Given the description of an element on the screen output the (x, y) to click on. 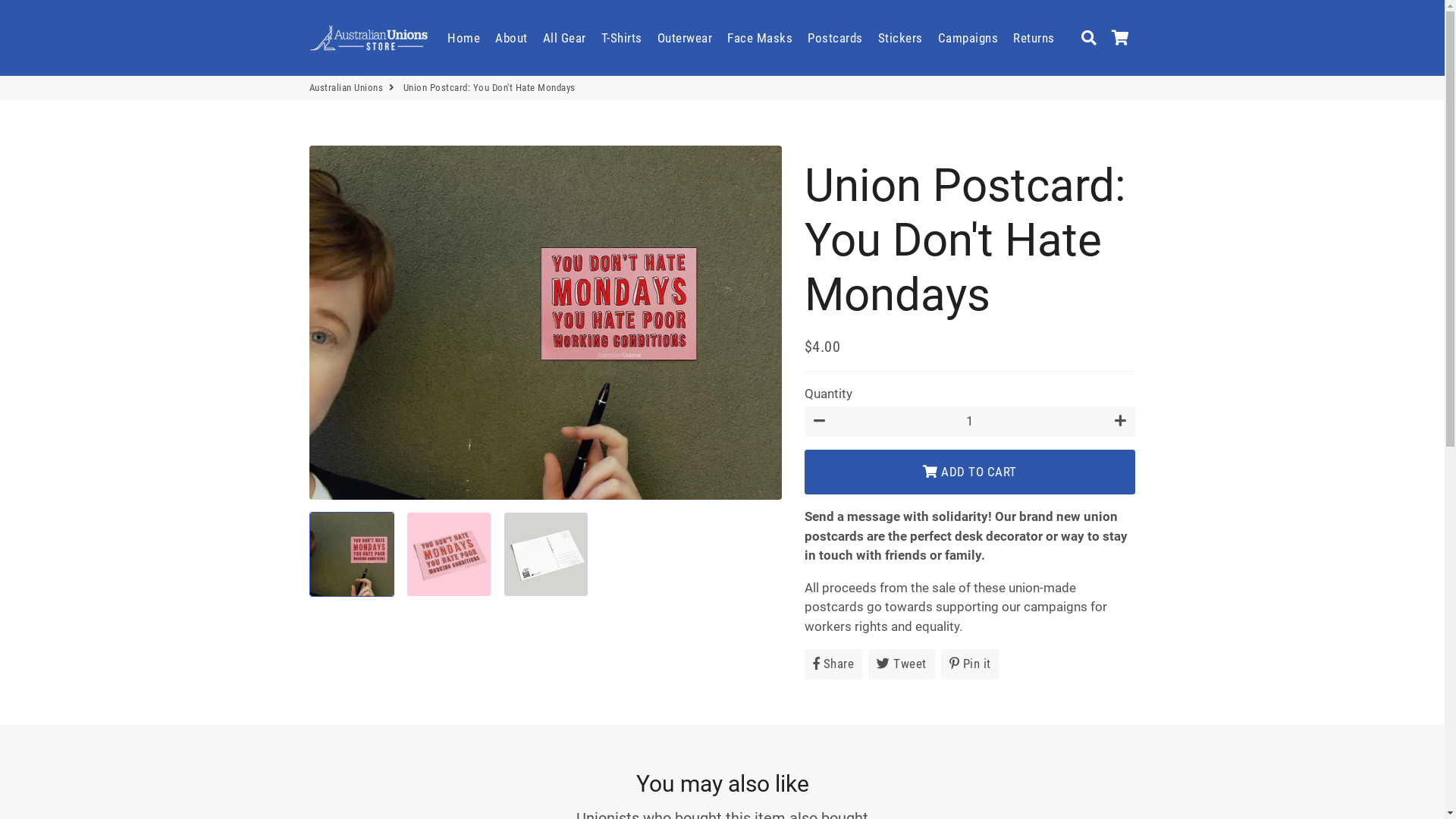
All Gear Element type: text (564, 37)
About Element type: text (511, 37)
Australian Unions Element type: text (369, 37)
Australian Unions Element type: text (346, 87)
+ Element type: text (1120, 421)
Home Element type: text (463, 37)
Pin it
Pin on Pinterest Element type: text (970, 664)
Returns Element type: text (1033, 37)
ADD TO CART Element type: text (969, 471)
Face Masks Element type: text (759, 37)
Tweet
Tweet on Twitter Element type: text (901, 664)
Cart Element type: text (1119, 37)
Campaigns Element type: text (967, 37)
T-Shirts Element type: text (620, 37)
Outerwear Element type: text (684, 37)
Share
Share on Facebook Element type: text (833, 664)
Postcards Element type: text (835, 37)
Stickers Element type: text (900, 37)
Search Element type: text (1088, 37)
